Given the description of an element on the screen output the (x, y) to click on. 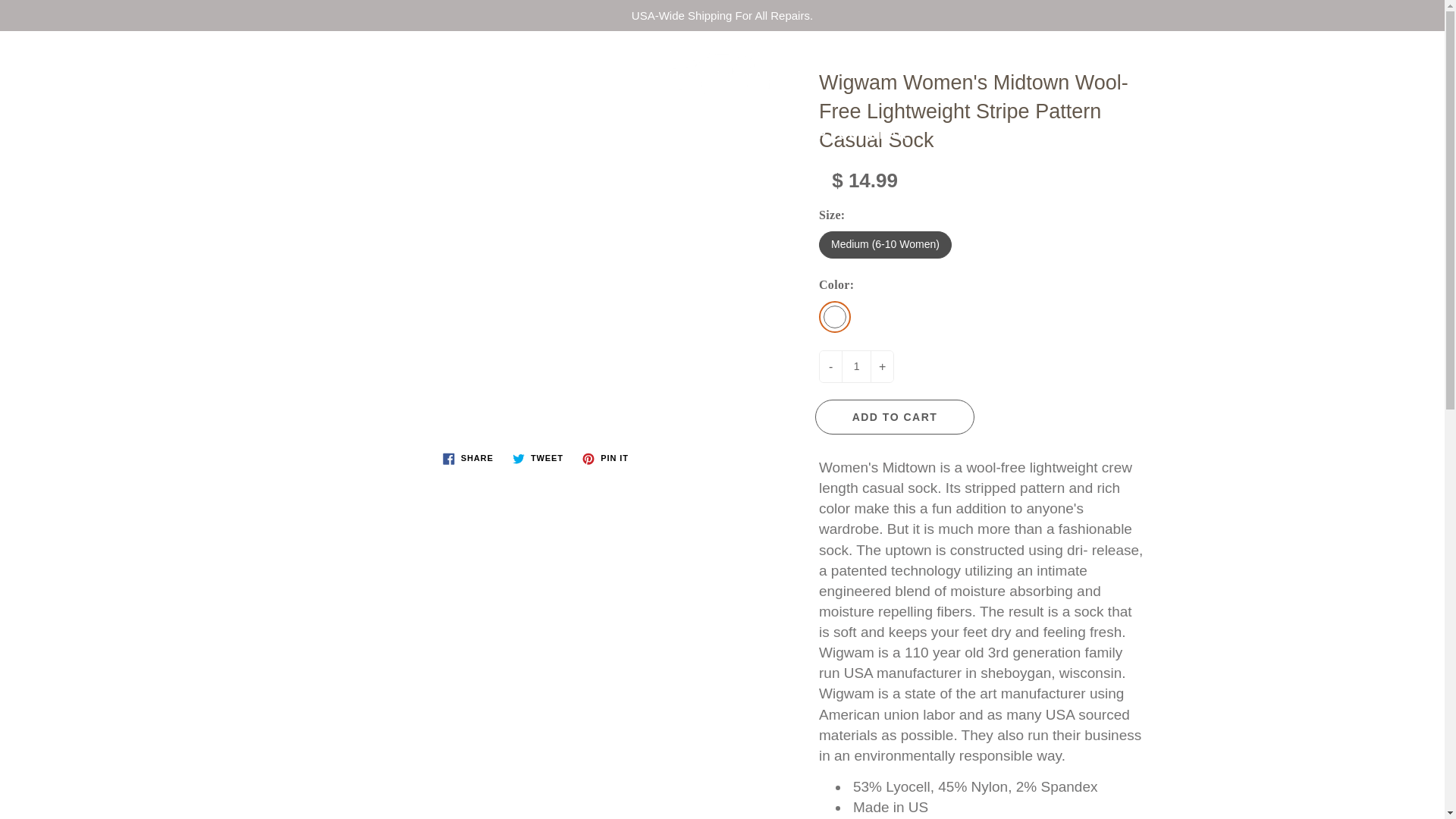
Search (28, 56)
1 (855, 366)
REPAIR (370, 134)
HOME (278, 134)
Pin on Pinterest (604, 458)
My account (1379, 56)
Share on Facebook (467, 458)
You have 0 items in your cart (1417, 56)
Tweet on Twitter (537, 458)
